Given the description of an element on the screen output the (x, y) to click on. 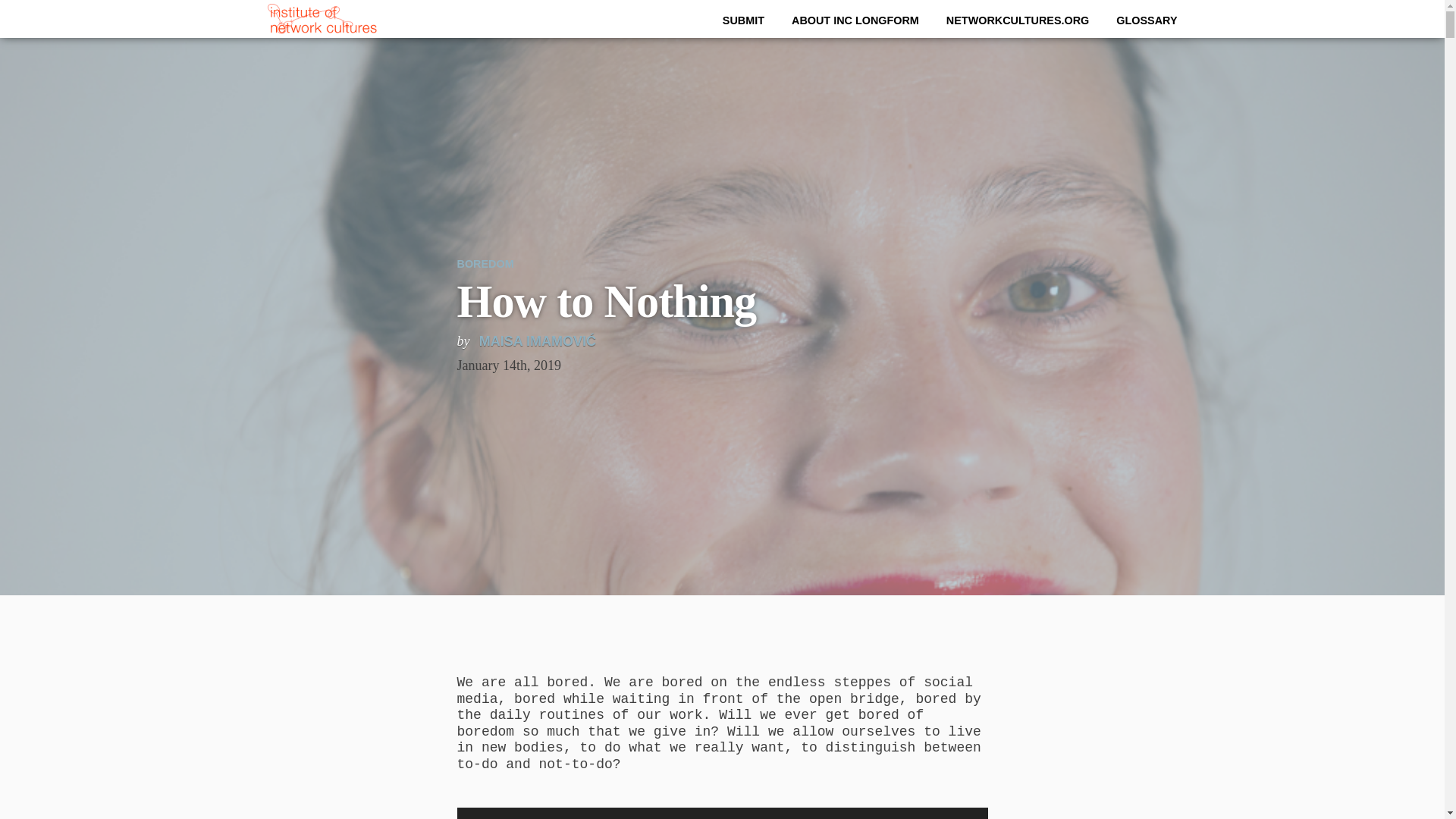
ABOUT INC LONGFORM (855, 20)
BOREDOM (485, 263)
GLOSSARY (1146, 20)
Chapters (26, 49)
NETWORKCULTURES.ORG (1017, 20)
SUBMIT (743, 20)
